Given the description of an element on the screen output the (x, y) to click on. 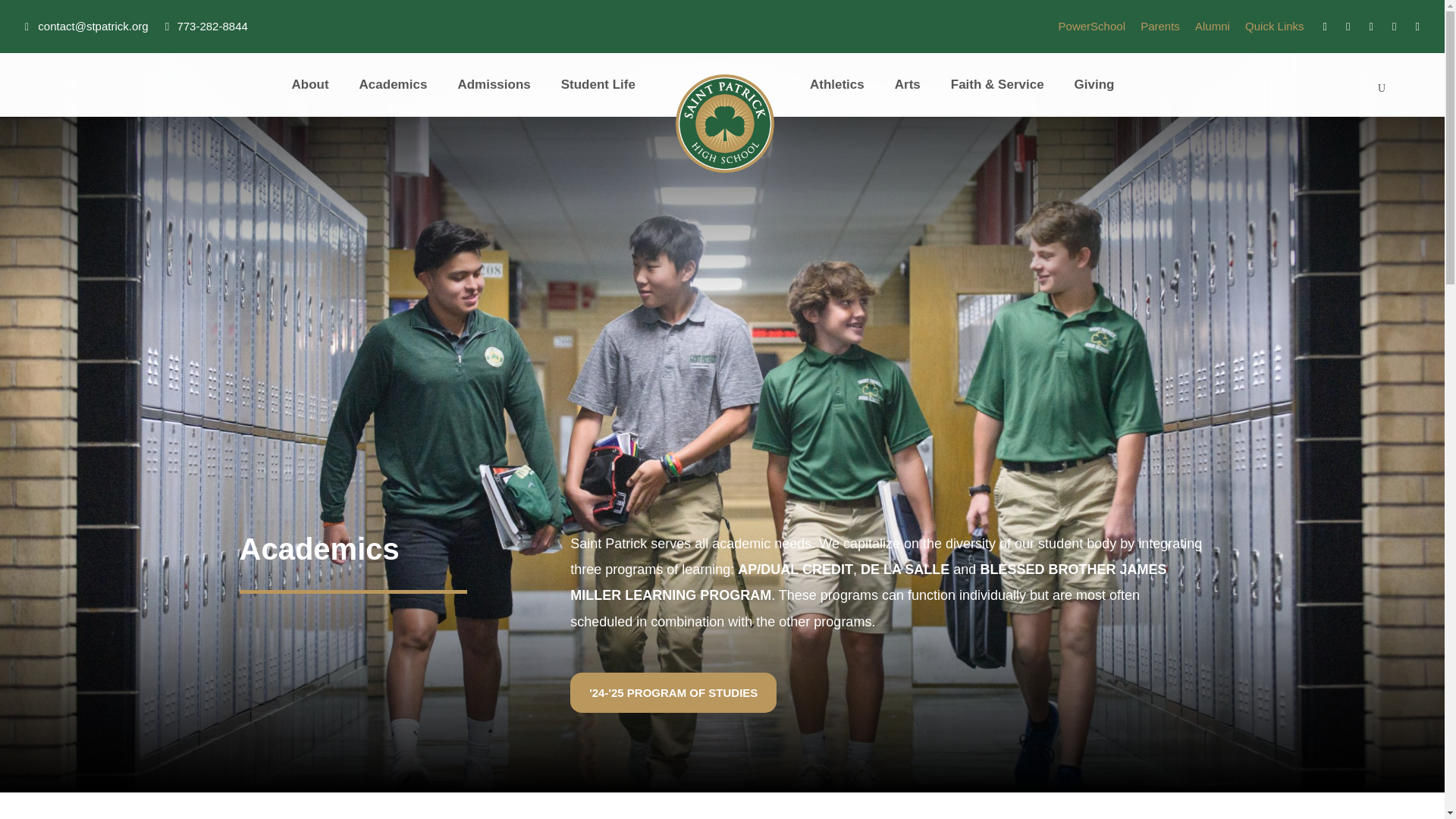
HomePageLogo (724, 123)
